Given the description of an element on the screen output the (x, y) to click on. 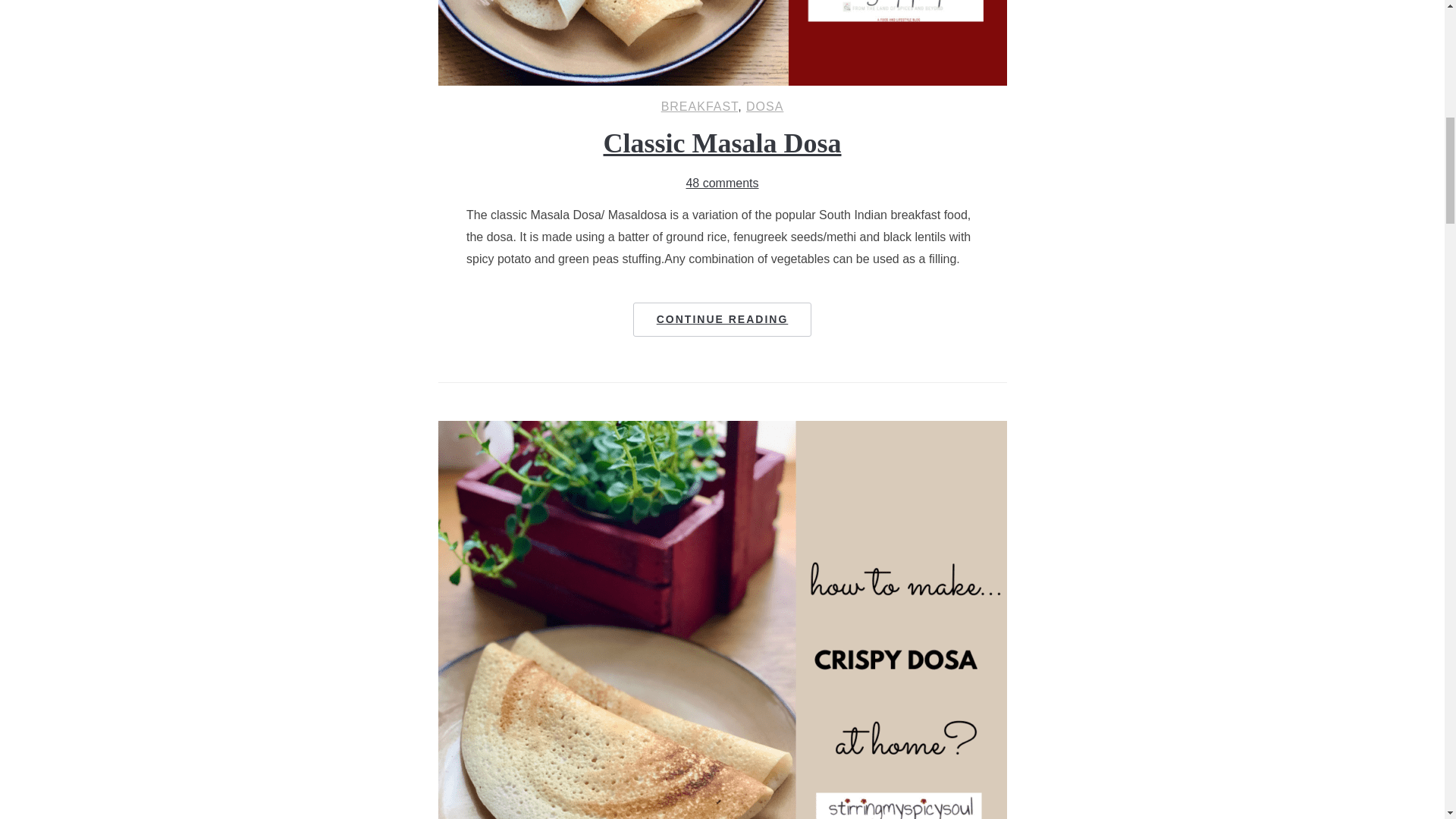
Crispy Plain Dosa (722, 430)
Permalink to Classic Masala Dosa (722, 318)
